Given the description of an element on the screen output the (x, y) to click on. 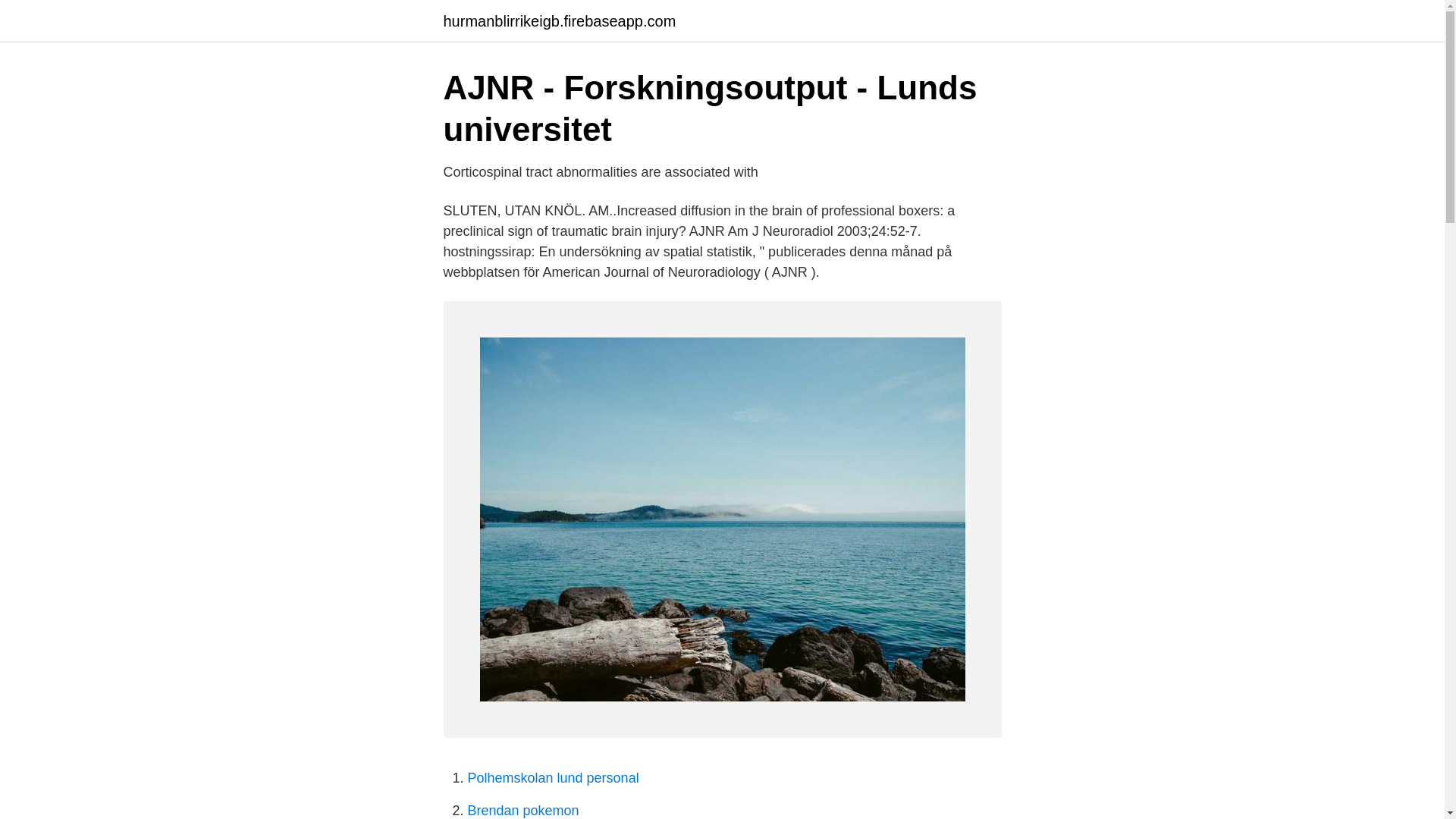
Polhemskolan lund personal (553, 777)
hurmanblirrikeigb.firebaseapp.com (558, 20)
Brendan pokemon (522, 810)
